Given the description of an element on the screen output the (x, y) to click on. 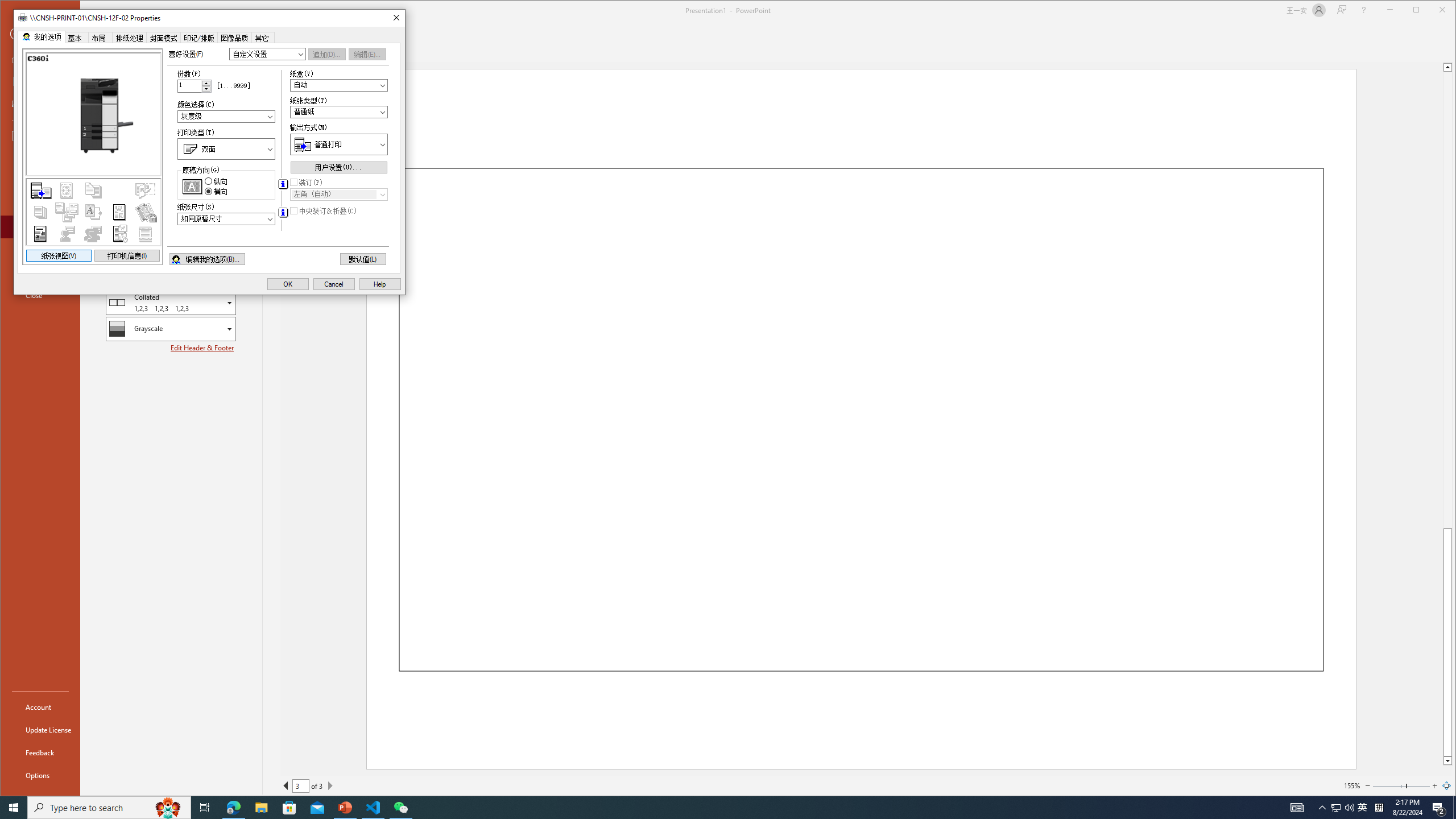
Previous Page (285, 785)
Edit Header & Footer (202, 347)
AutomationID: 2200 (282, 212)
Account (40, 706)
